Given the description of an element on the screen output the (x, y) to click on. 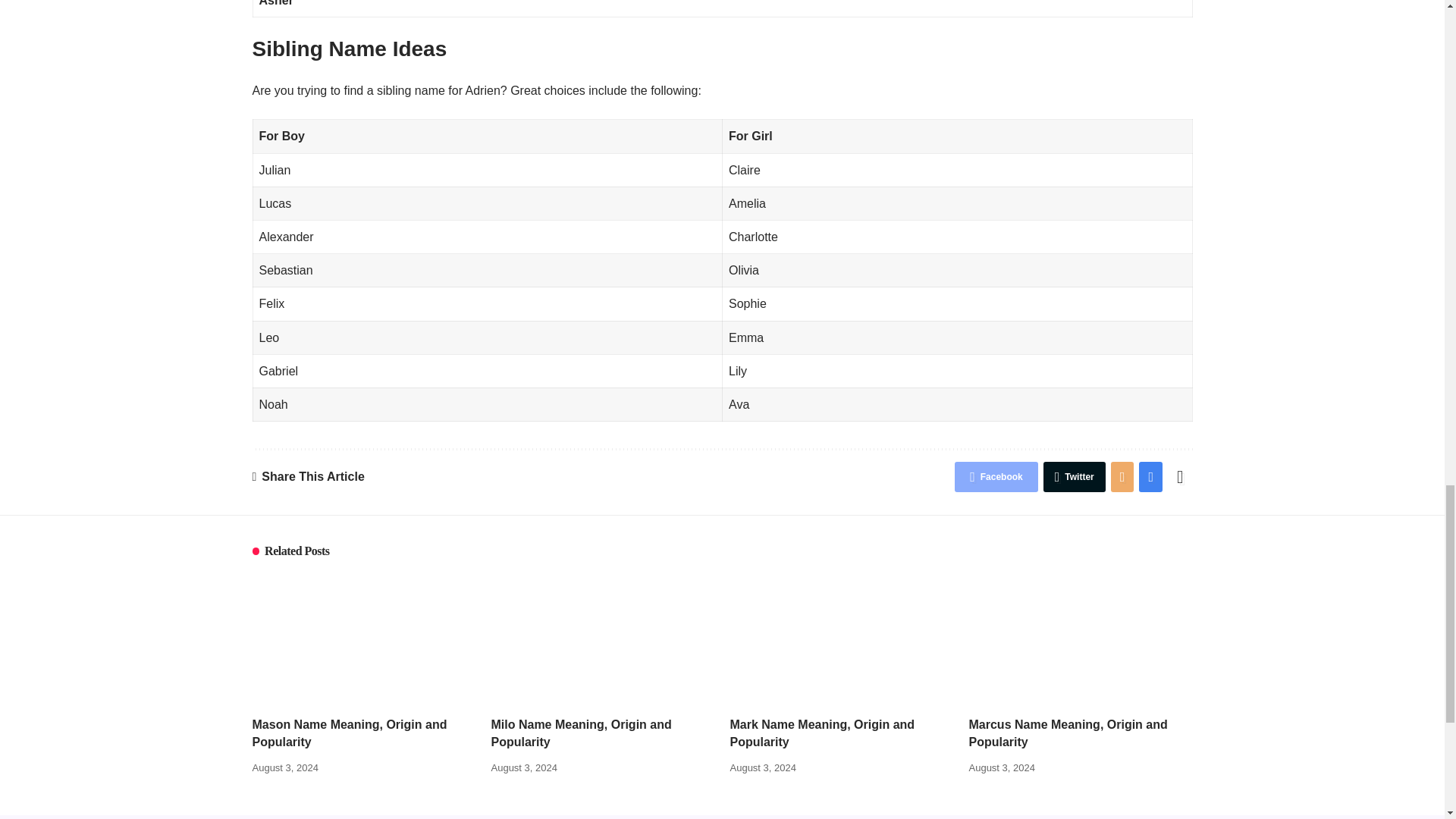
Mason Name Meaning, Origin and Popularity (363, 639)
Marcus Name Meaning, Origin and Popularity (1080, 639)
Milo Name Meaning, Origin and Popularity (603, 639)
Mark Name Meaning, Origin and Popularity (841, 639)
